Given the description of an element on the screen output the (x, y) to click on. 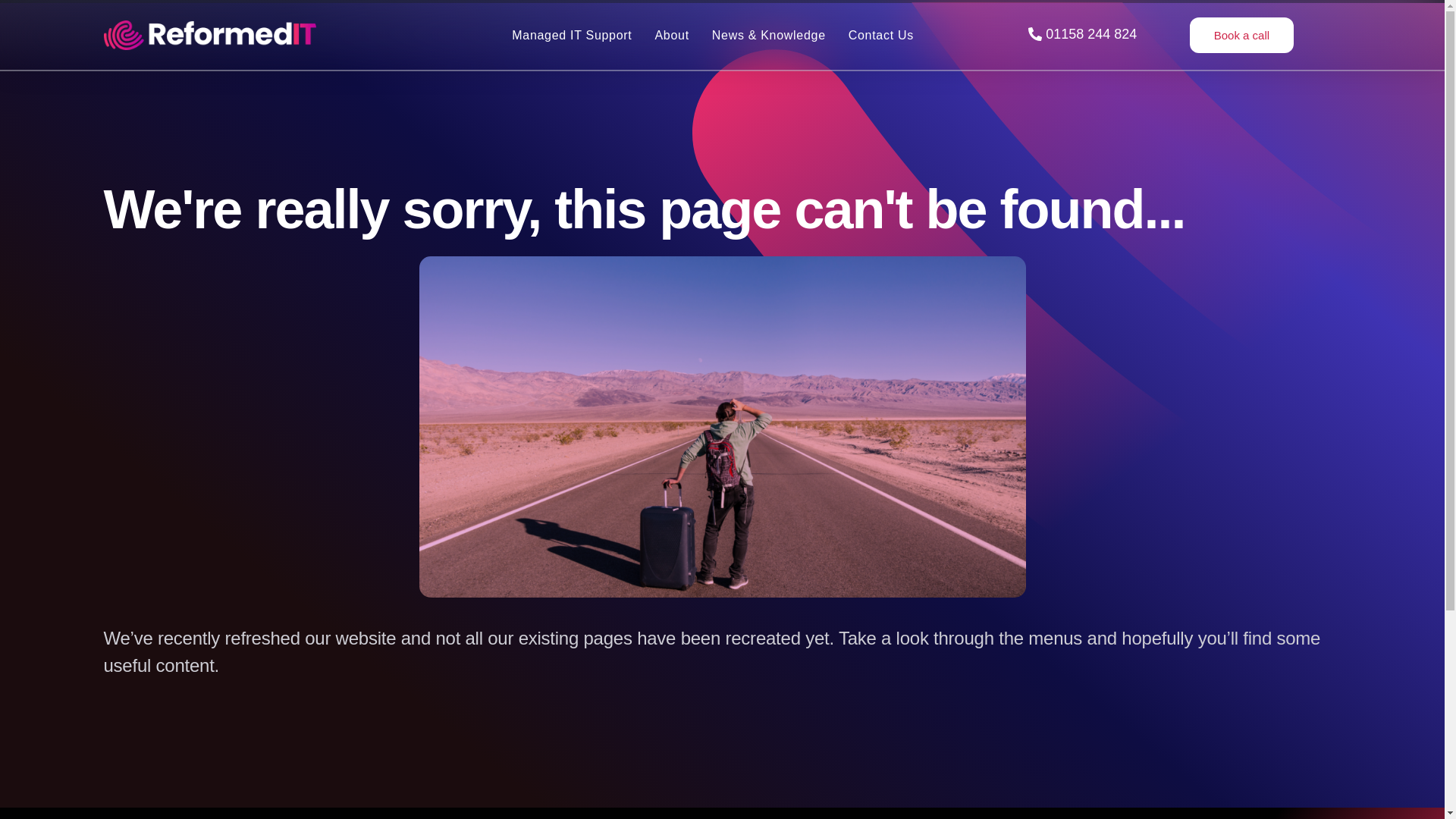
Book a call (1241, 35)
Contact Us (881, 35)
About (670, 35)
Managed IT Support (571, 35)
01158 244 824 (1082, 35)
